Given the description of an element on the screen output the (x, y) to click on. 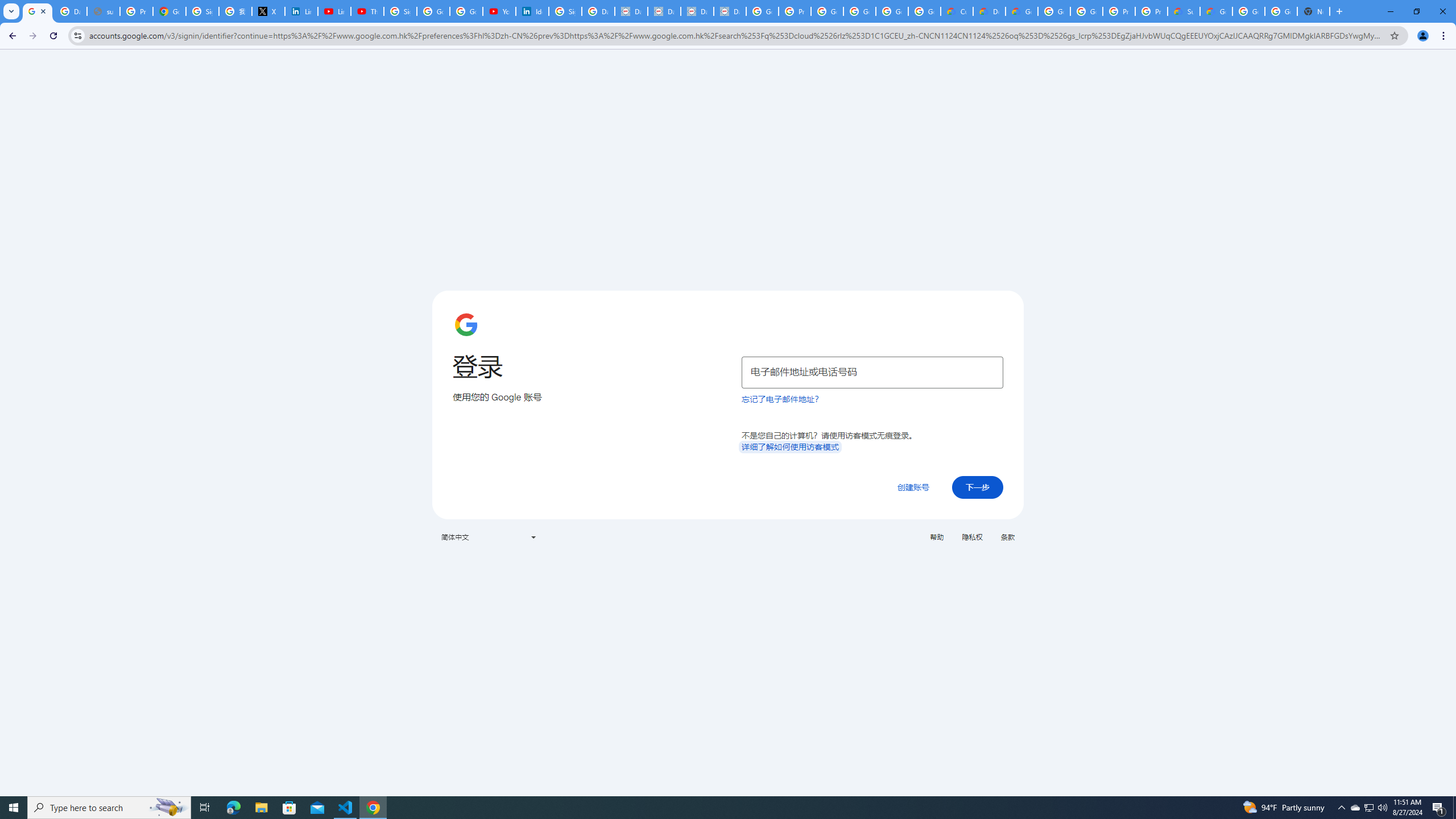
Google Cloud Platform (1053, 11)
Data Privacy Framework (730, 11)
Privacy Help Center - Policies Help (136, 11)
LinkedIn Privacy Policy (301, 11)
Google Workspace - Specific Terms (924, 11)
